Given the description of an element on the screen output the (x, y) to click on. 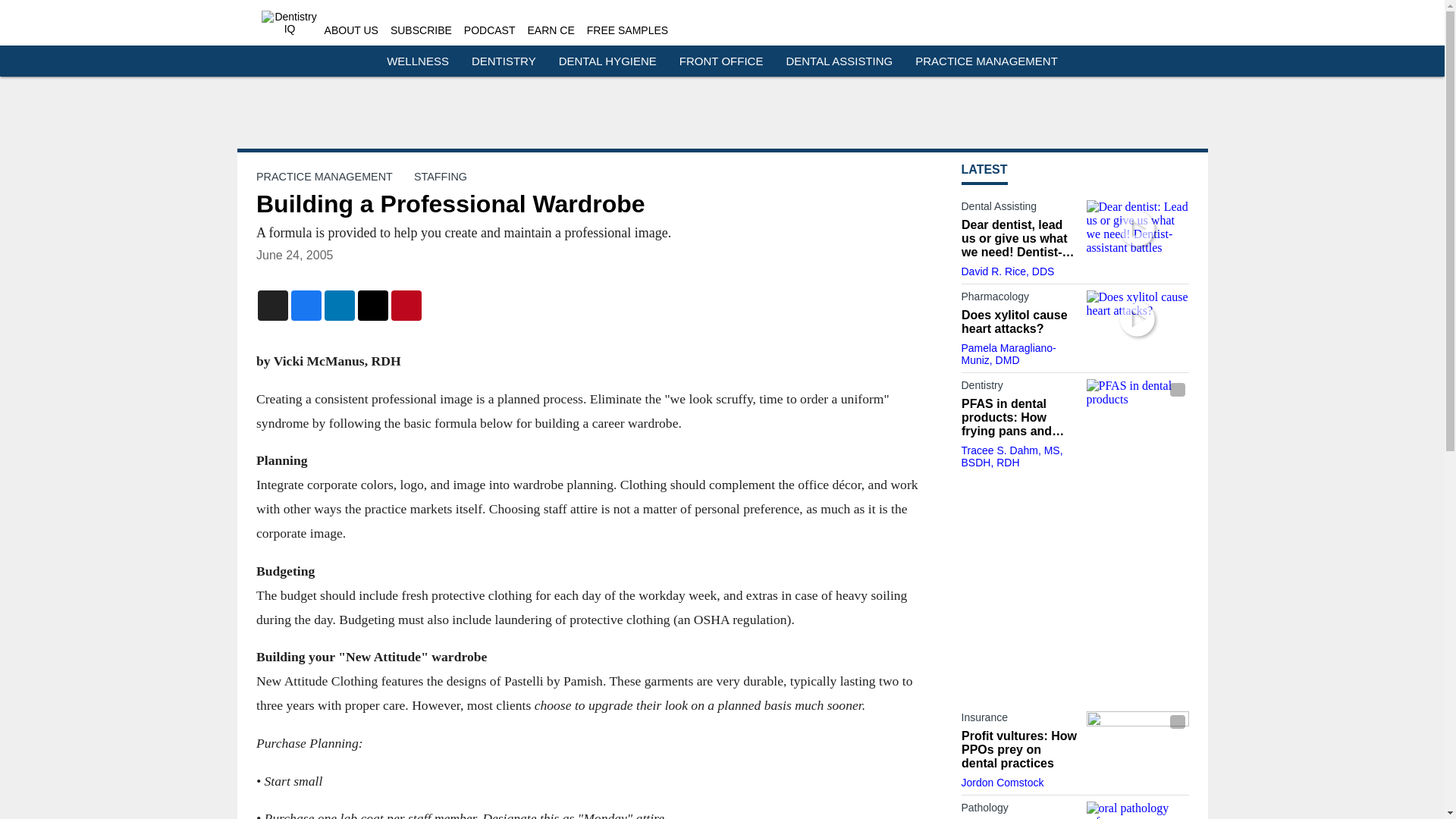
FREE SAMPLES (627, 30)
WELLNESS (417, 60)
oral pathology reference (1137, 810)
Insurance (1019, 720)
EARN CE (551, 30)
PODCAST (489, 30)
Does xylitol cause heart attacks? (1137, 318)
Dental Assisting (1019, 208)
